Given the description of an element on the screen output the (x, y) to click on. 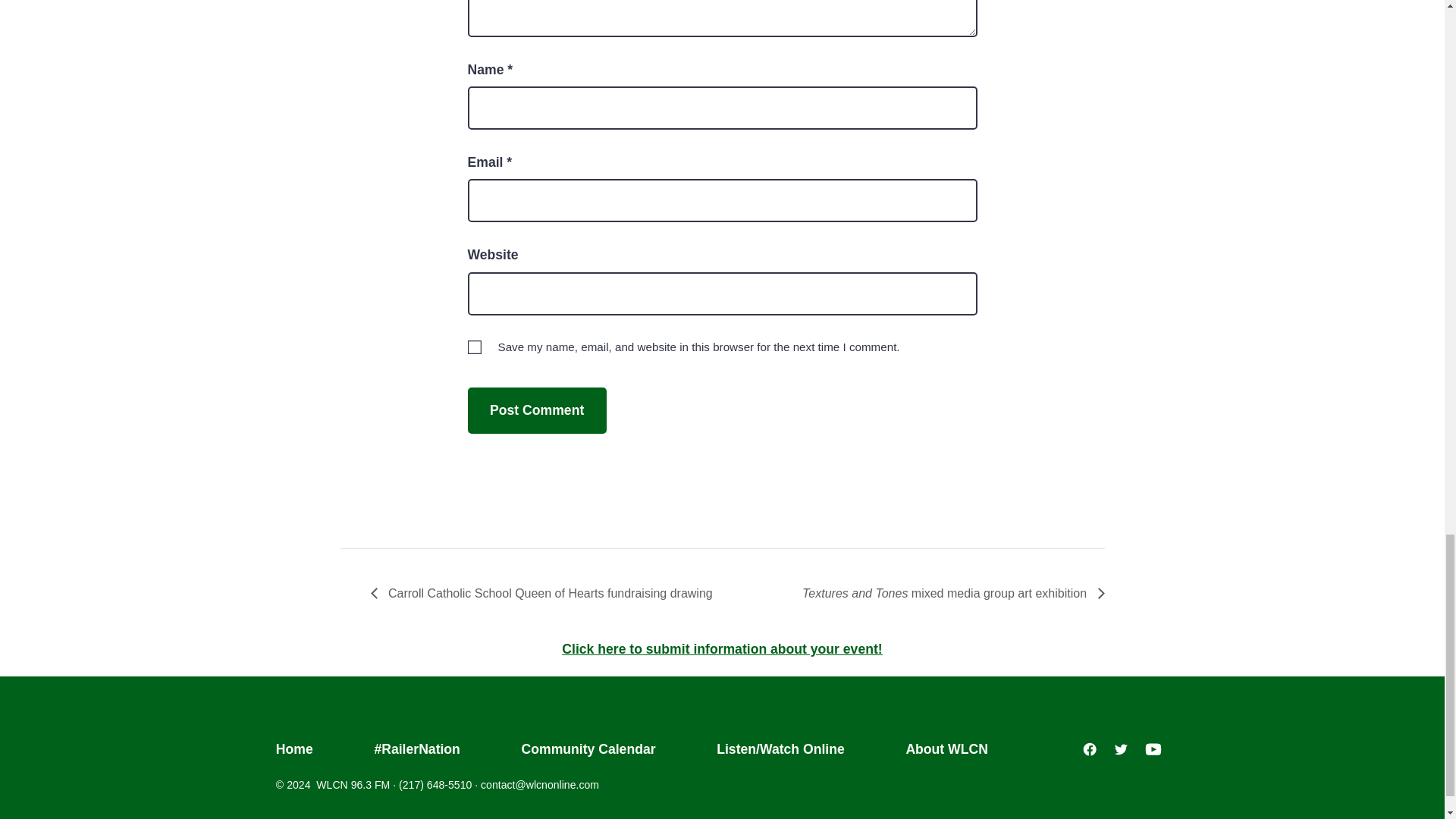
Post Comment (536, 410)
Textures and Tones mixed media group art exhibition (948, 593)
Carroll Catholic School Queen of Hearts fundraising drawing (544, 593)
Home (309, 749)
Click here to submit information about your event! (722, 648)
Post Comment (536, 410)
Community Calendar (588, 749)
